Given the description of an element on the screen output the (x, y) to click on. 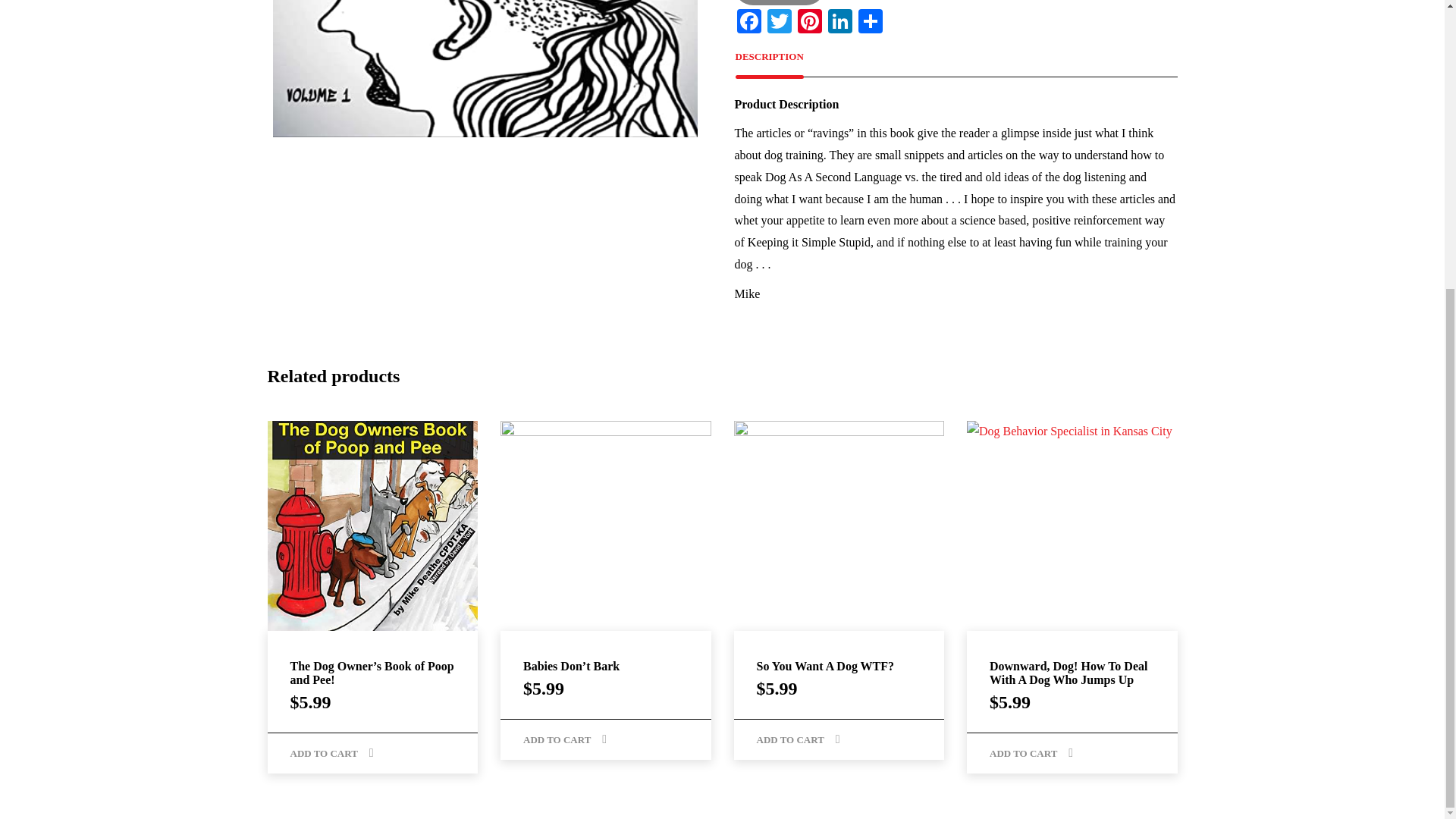
Facebook (748, 22)
LinkedIn (840, 22)
51yFk1PRasL (485, 68)
Pinterest (809, 22)
Twitter (779, 22)
